Given the description of an element on the screen output the (x, y) to click on. 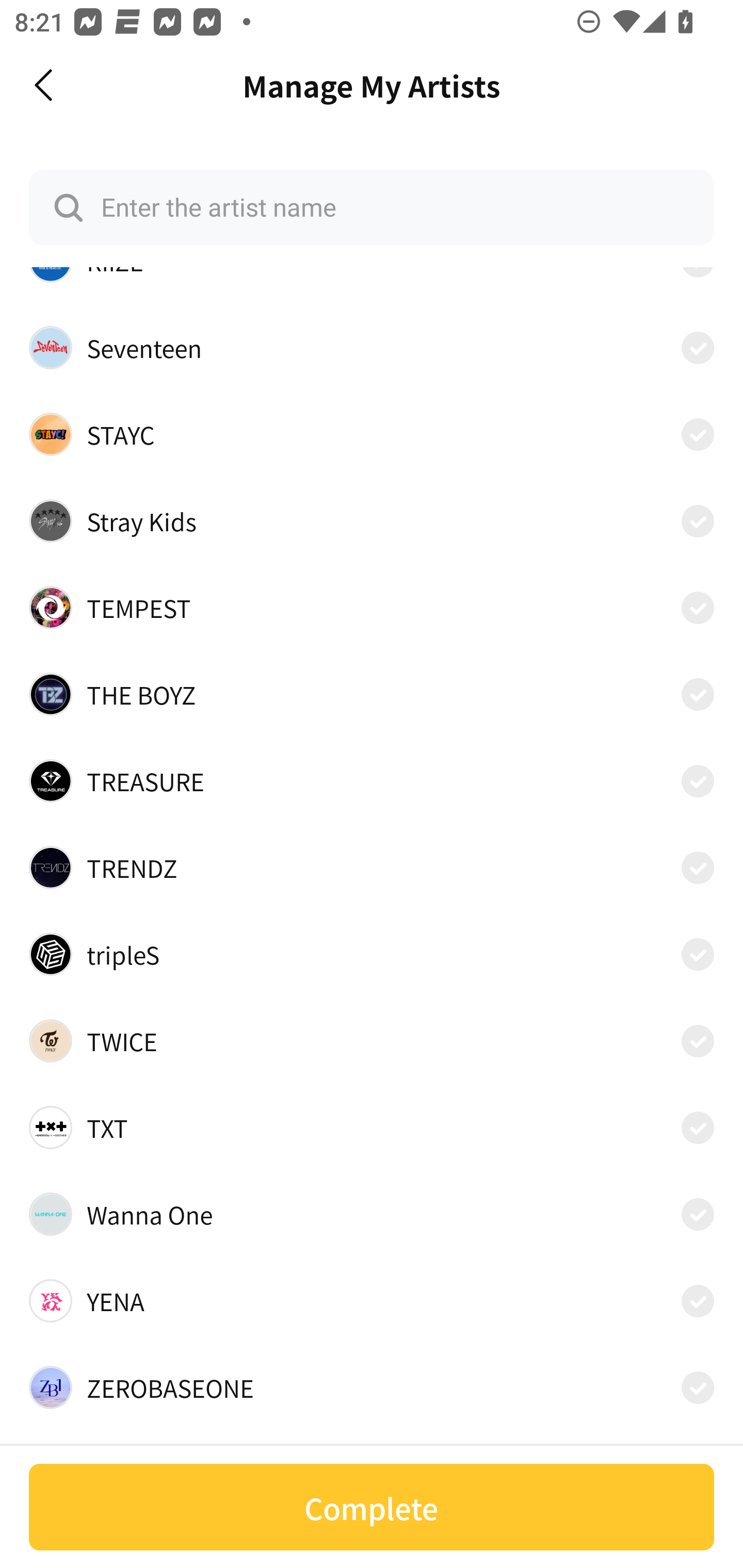
Enter the artist name (371, 207)
Seventeen (371, 348)
STAYC (371, 434)
Stray Kids (371, 520)
TEMPEST (371, 607)
THE BOYZ (371, 694)
TREASURE (371, 780)
TRENDZ (371, 867)
tripleS (371, 953)
TWICE (371, 1041)
TXT (371, 1127)
Wanna One (371, 1214)
YENA (371, 1300)
ZEROBASEONE (371, 1387)
Complete (371, 1507)
